Given the description of an element on the screen output the (x, y) to click on. 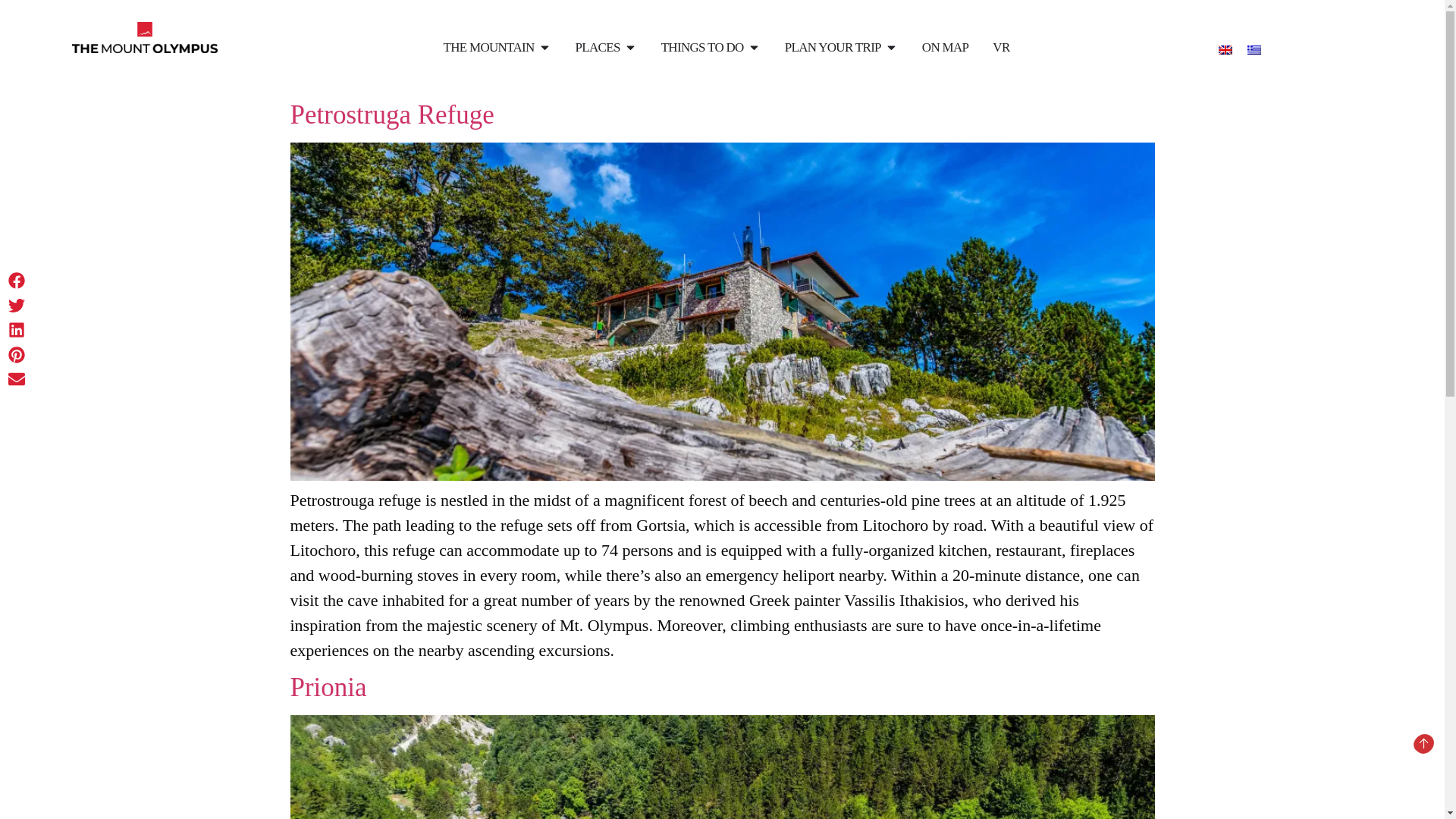
PLACES (597, 47)
ON MAP (944, 47)
THINGS TO DO (702, 47)
PLAN YOUR TRIP (832, 47)
THE MOUNTAIN (488, 47)
VR (1000, 47)
